Given the description of an element on the screen output the (x, y) to click on. 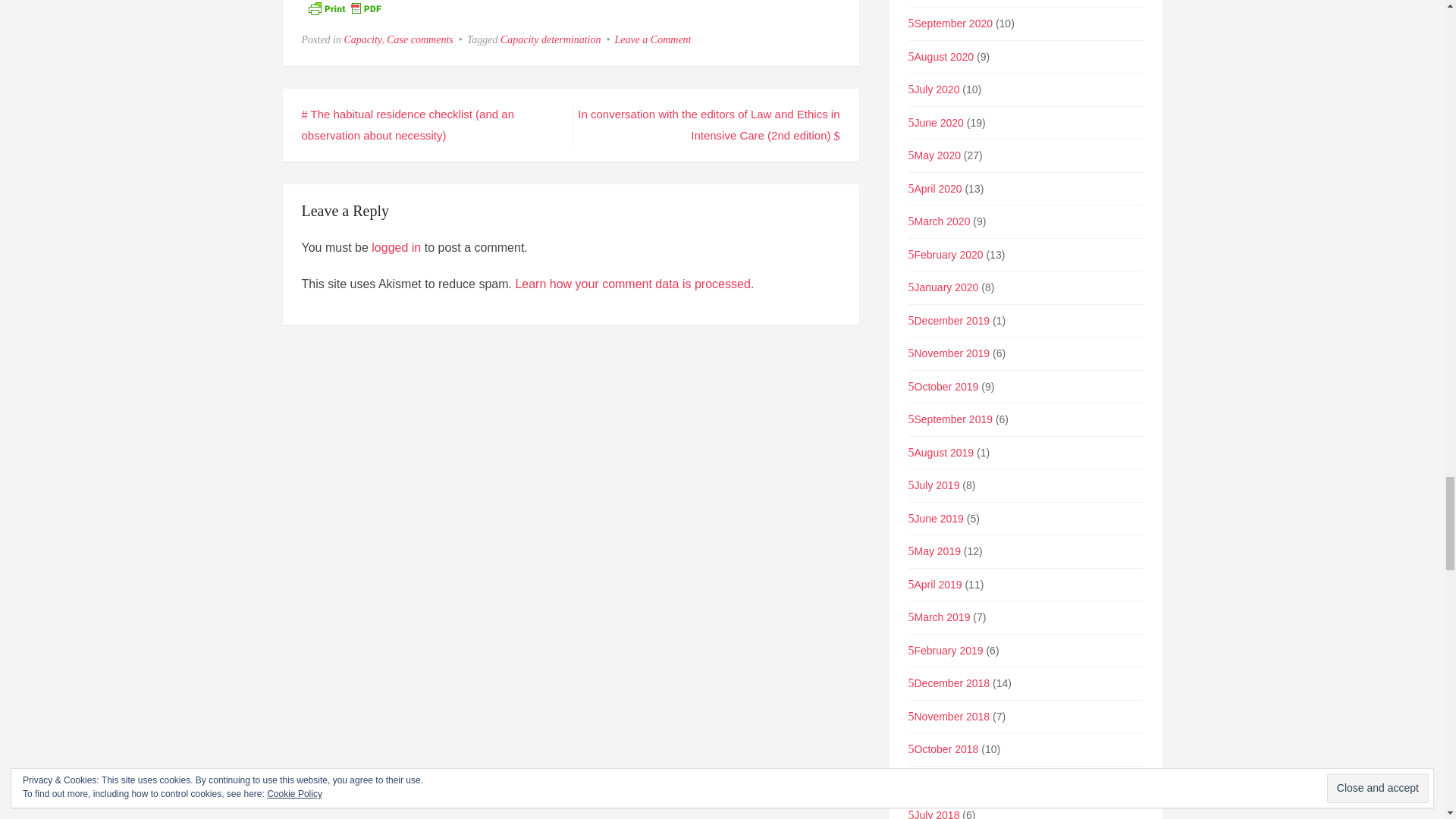
Case comments (419, 39)
Learn how your comment data is processed (632, 283)
Capacity determination (550, 39)
logged in (395, 246)
Capacity (362, 39)
